Given the description of an element on the screen output the (x, y) to click on. 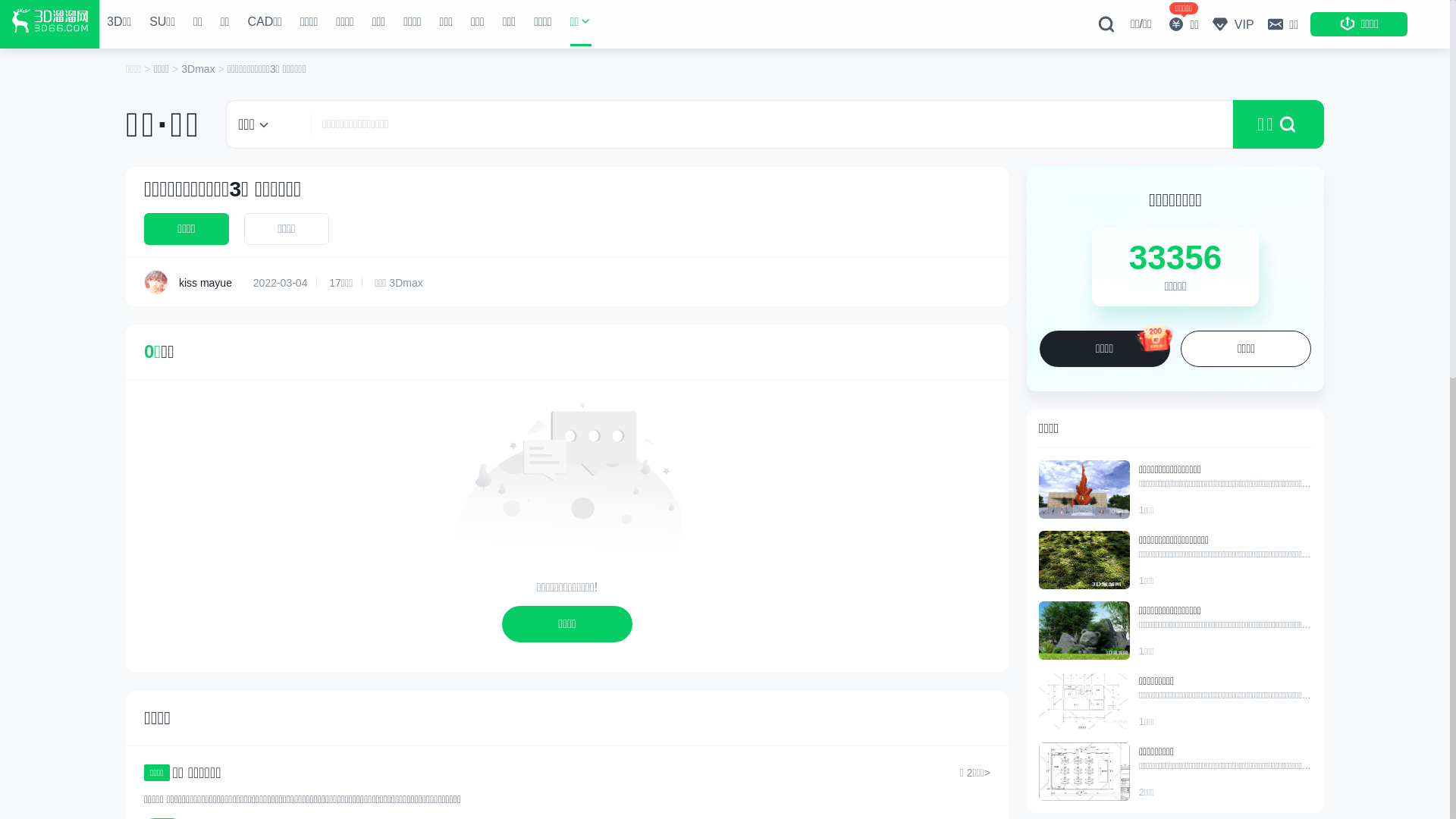
3Dmax Element type: text (199, 68)
kiss mayue Element type: hover (156, 281)
VIP Element type: text (1232, 23)
